Given the description of an element on the screen output the (x, y) to click on. 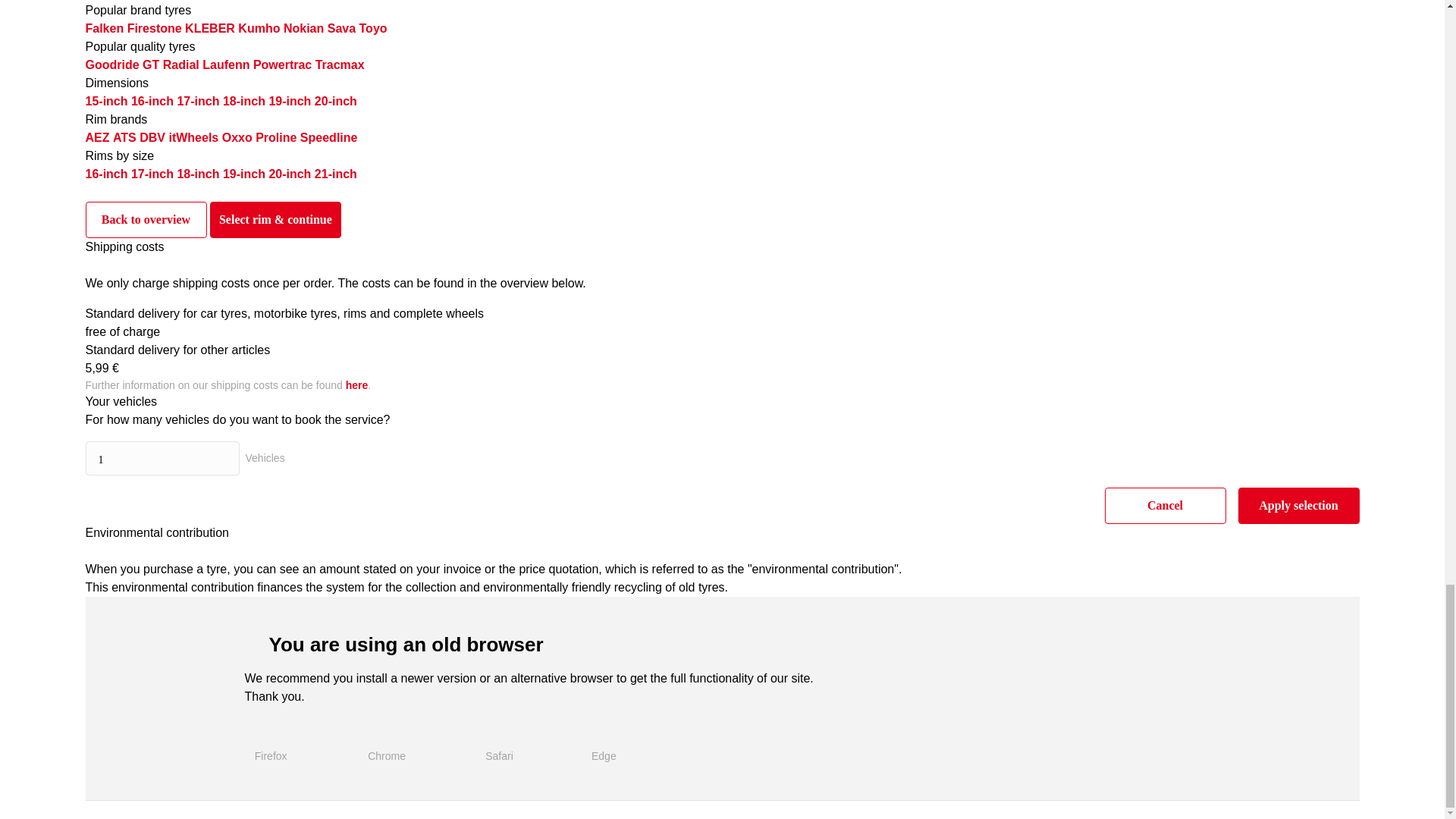
1 (161, 458)
